Given the description of an element on the screen output the (x, y) to click on. 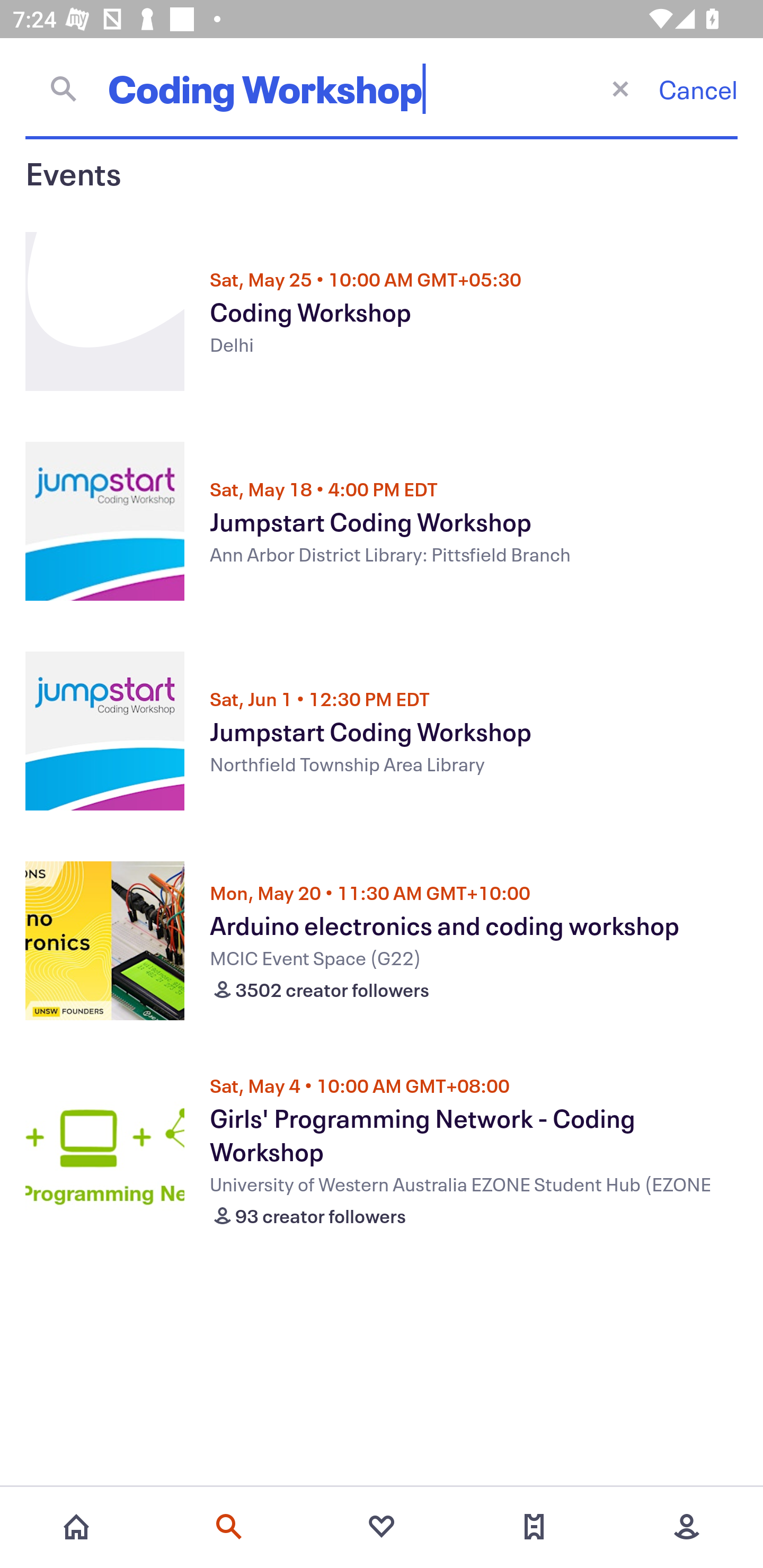
Coding Workshop Close current screen Cancel (381, 88)
Close current screen (620, 88)
Cancel (697, 89)
Home (76, 1526)
Search events (228, 1526)
Favorites (381, 1526)
Tickets (533, 1526)
More (686, 1526)
